Given the description of an element on the screen output the (x, y) to click on. 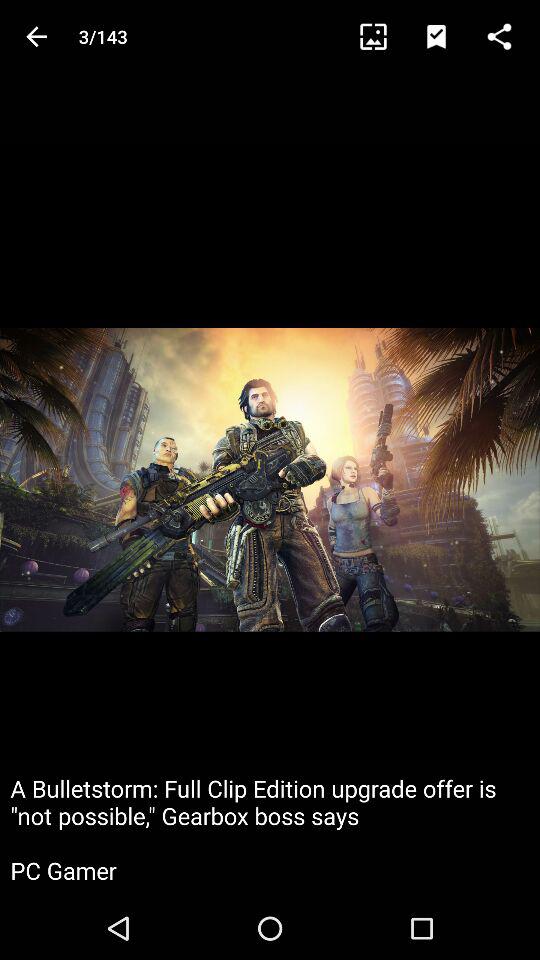
bookmark (445, 36)
